Given the description of an element on the screen output the (x, y) to click on. 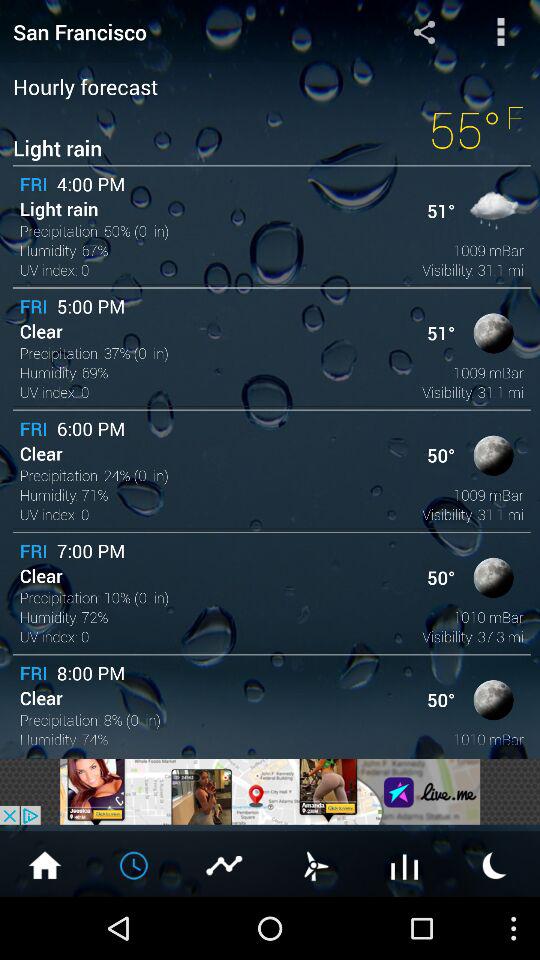
this is an advertisement (270, 791)
